Given the description of an element on the screen output the (x, y) to click on. 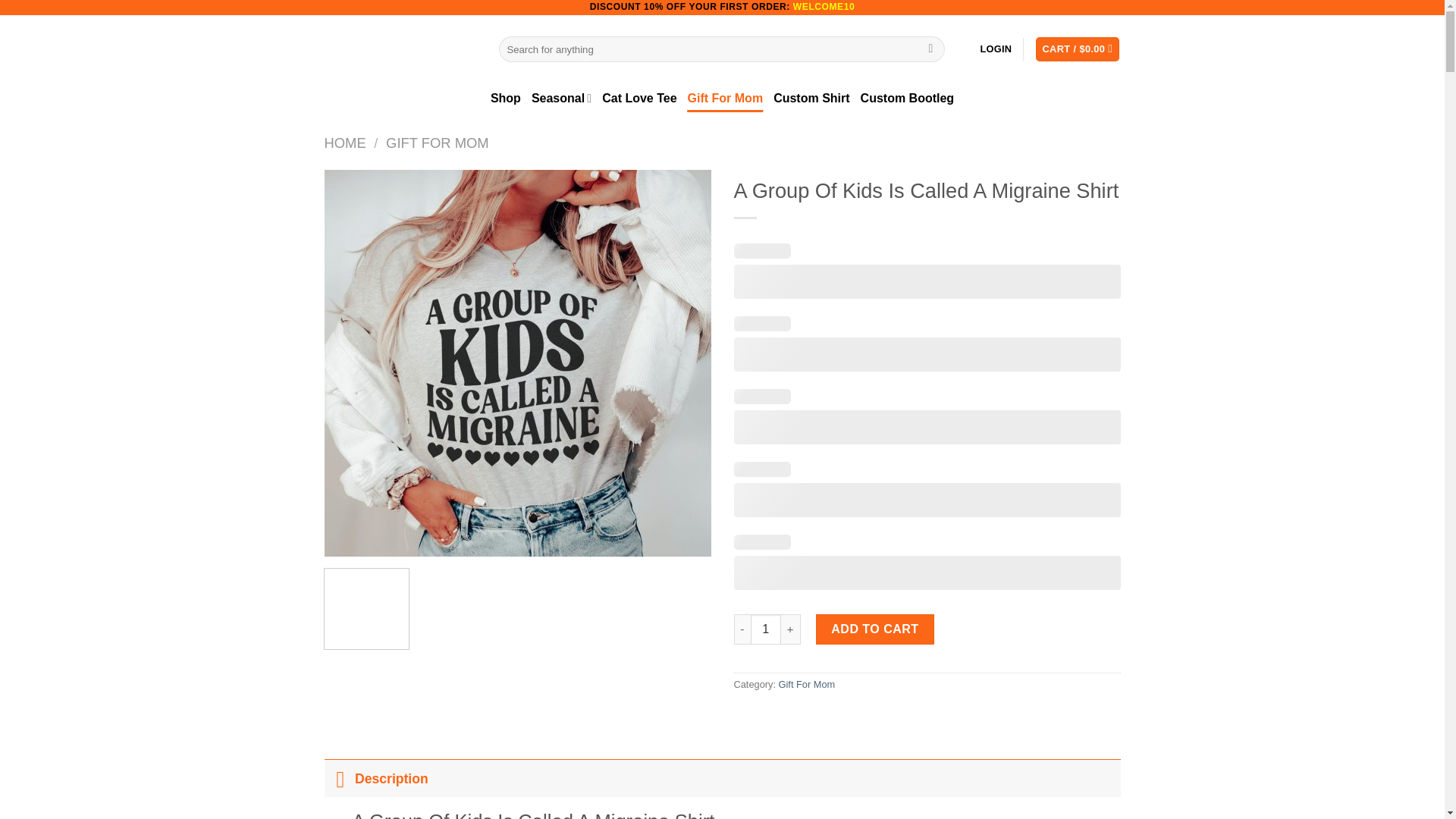
Custom Shirt (810, 98)
Shop (505, 98)
TrendingTeesToday (400, 49)
1 (765, 629)
ADD TO CART (874, 629)
HOME (345, 142)
Cart (1077, 49)
GIFT FOR MOM (437, 142)
Search (930, 49)
LOGIN (995, 49)
